Given the description of an element on the screen output the (x, y) to click on. 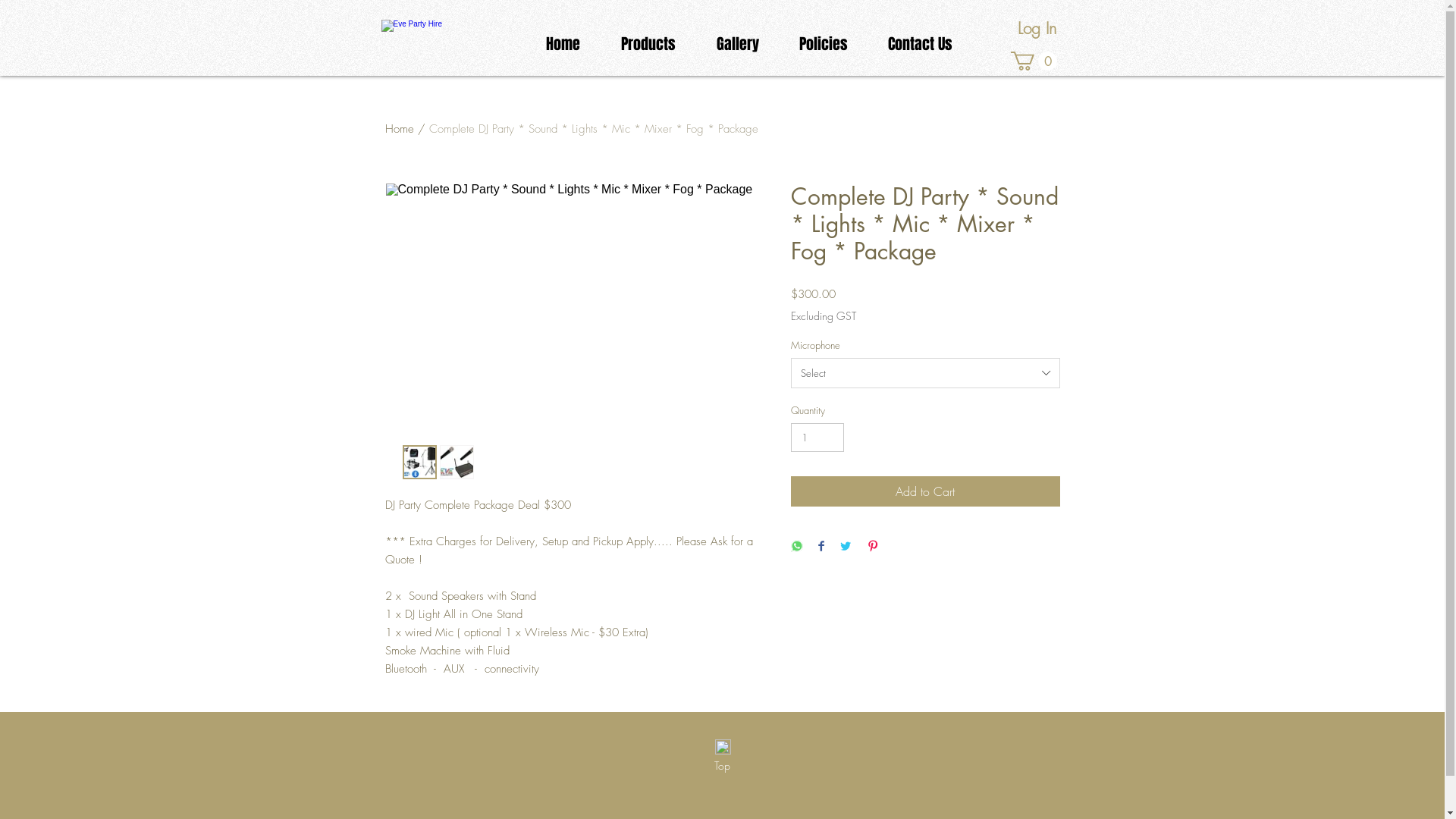
Select Element type: text (924, 372)
Add to Cart Element type: text (924, 491)
Gallery Element type: text (737, 44)
0 Element type: text (1033, 60)
Log In Element type: text (1036, 27)
Home Element type: text (561, 44)
Top Element type: text (721, 764)
Home Element type: text (399, 128)
